Given the description of an element on the screen output the (x, y) to click on. 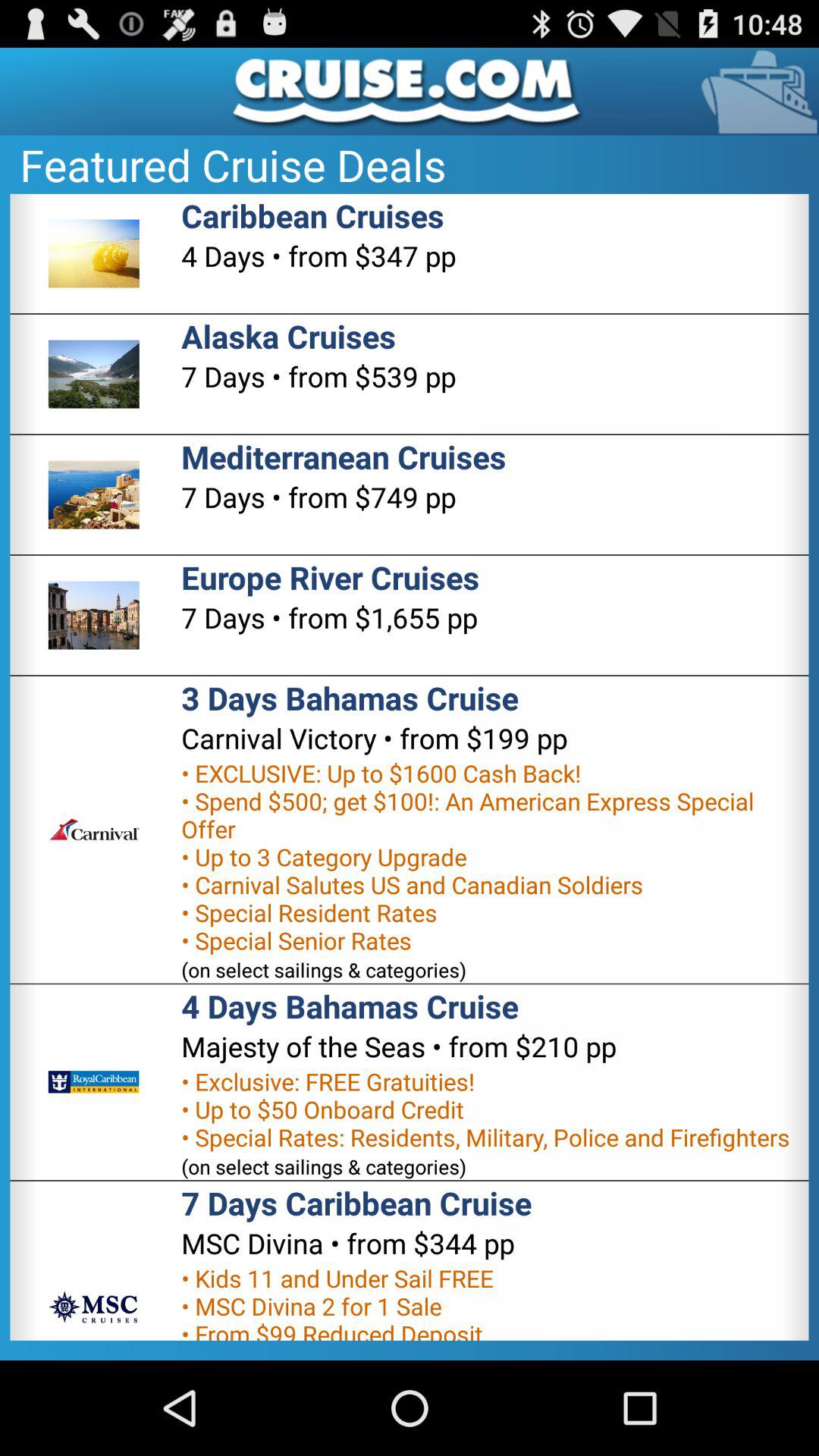
press mediterranean cruises (343, 456)
